Given the description of an element on the screen output the (x, y) to click on. 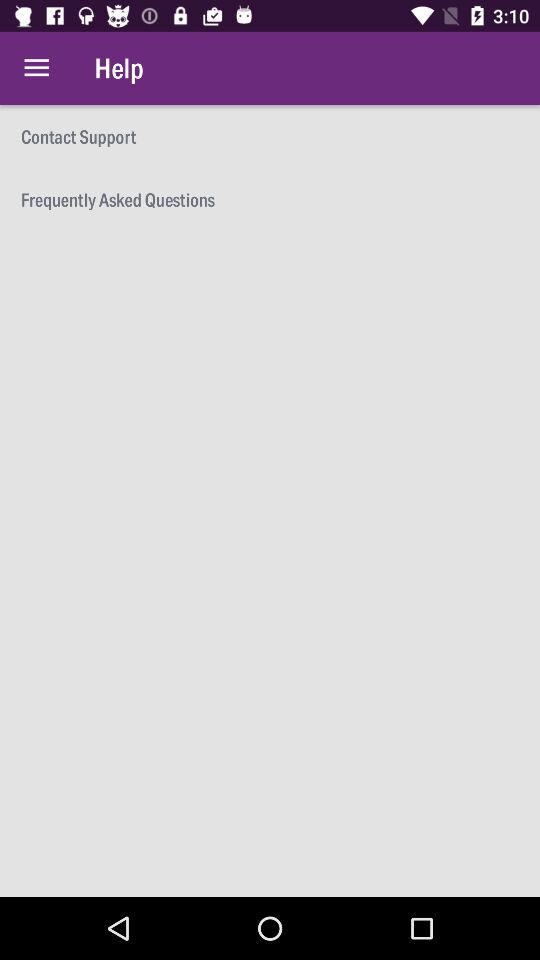
tap the frequently asked questions icon (270, 198)
